Given the description of an element on the screen output the (x, y) to click on. 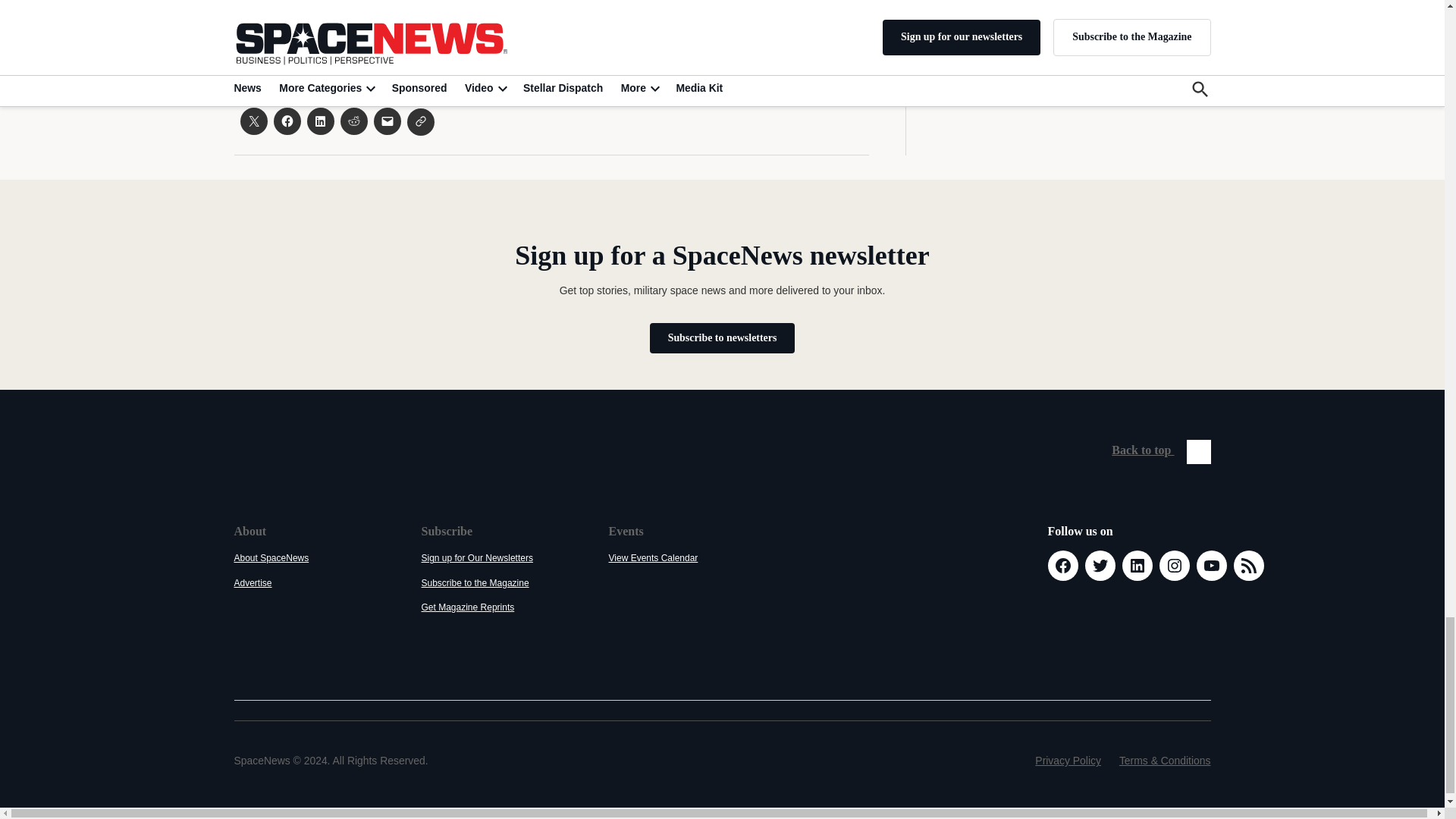
Click to email a link to a friend (386, 121)
Click to share on Clipboard (419, 121)
Click to share on X (253, 121)
Click to share on Facebook (286, 121)
Click to share on Reddit (352, 121)
Click to share on LinkedIn (319, 121)
